Given the description of an element on the screen output the (x, y) to click on. 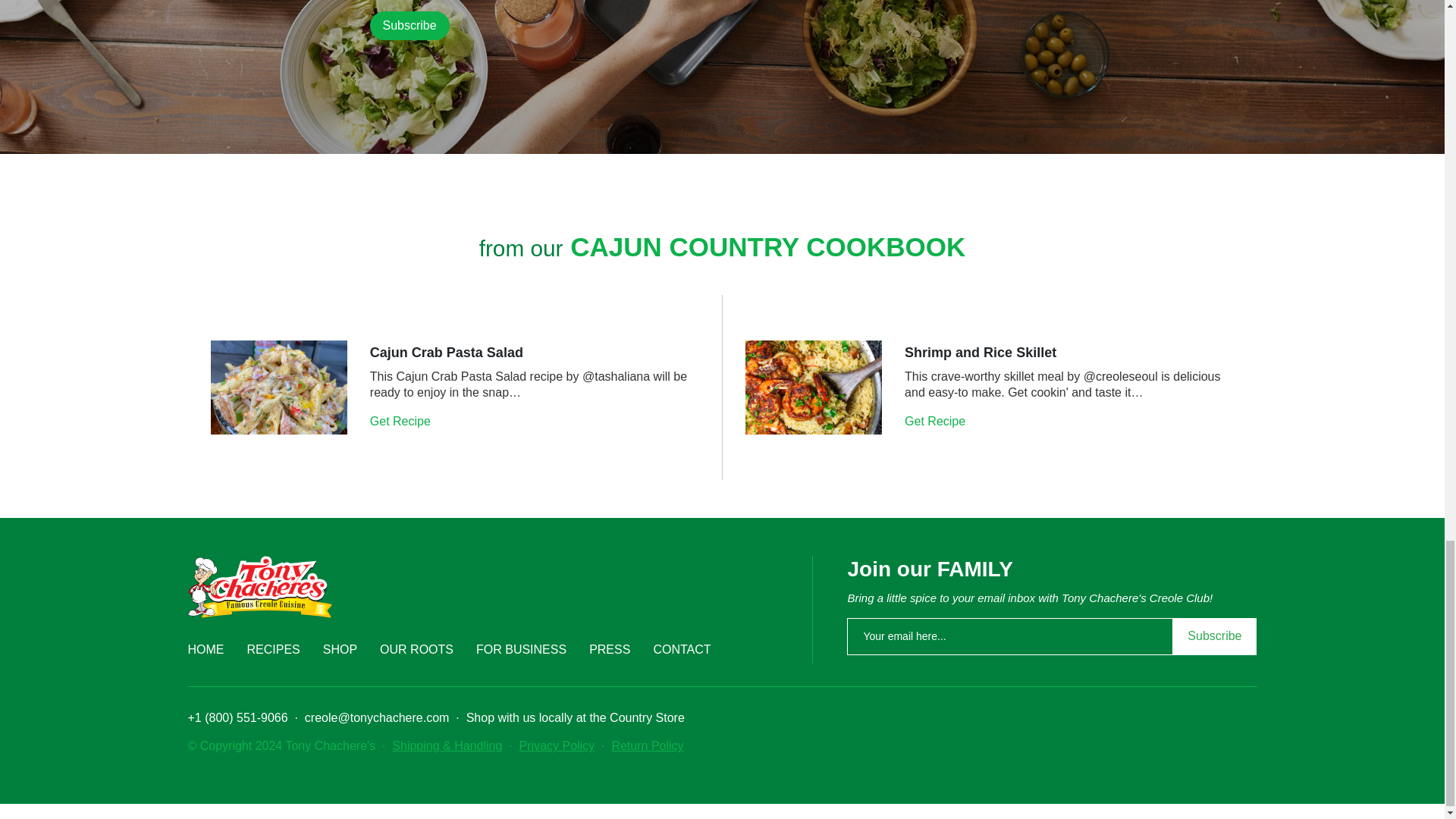
Subscribe (409, 25)
FOR BUSINESS (521, 649)
Get Recipe (401, 420)
OUR ROOTS (416, 649)
Get Recipe (936, 420)
SHOP (339, 649)
Subscribe (409, 25)
CONTACT (681, 649)
RECIPES (273, 649)
HOME (205, 649)
PRESS (609, 649)
